Given the description of an element on the screen output the (x, y) to click on. 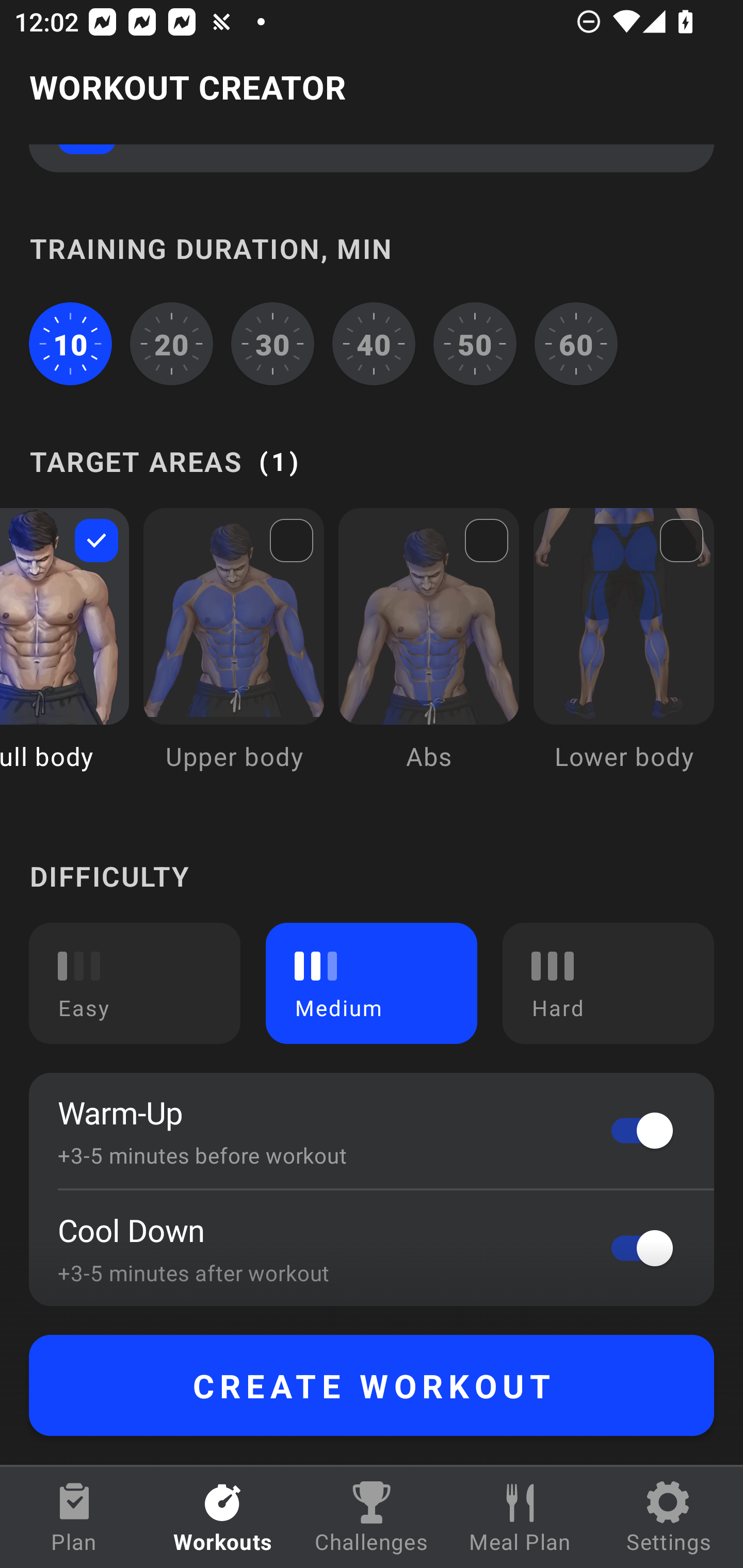
10 (70, 344)
20 (171, 344)
30 (272, 344)
40 (373, 344)
50 (474, 344)
60 (575, 344)
Upper body (233, 653)
Abs (428, 653)
Lower body (623, 653)
Easy (134, 982)
Hard (608, 982)
CREATE WORKOUT (371, 1385)
 Plan  (74, 1517)
 Challenges  (371, 1517)
 Meal Plan  (519, 1517)
 Settings  (668, 1517)
